Given the description of an element on the screen output the (x, y) to click on. 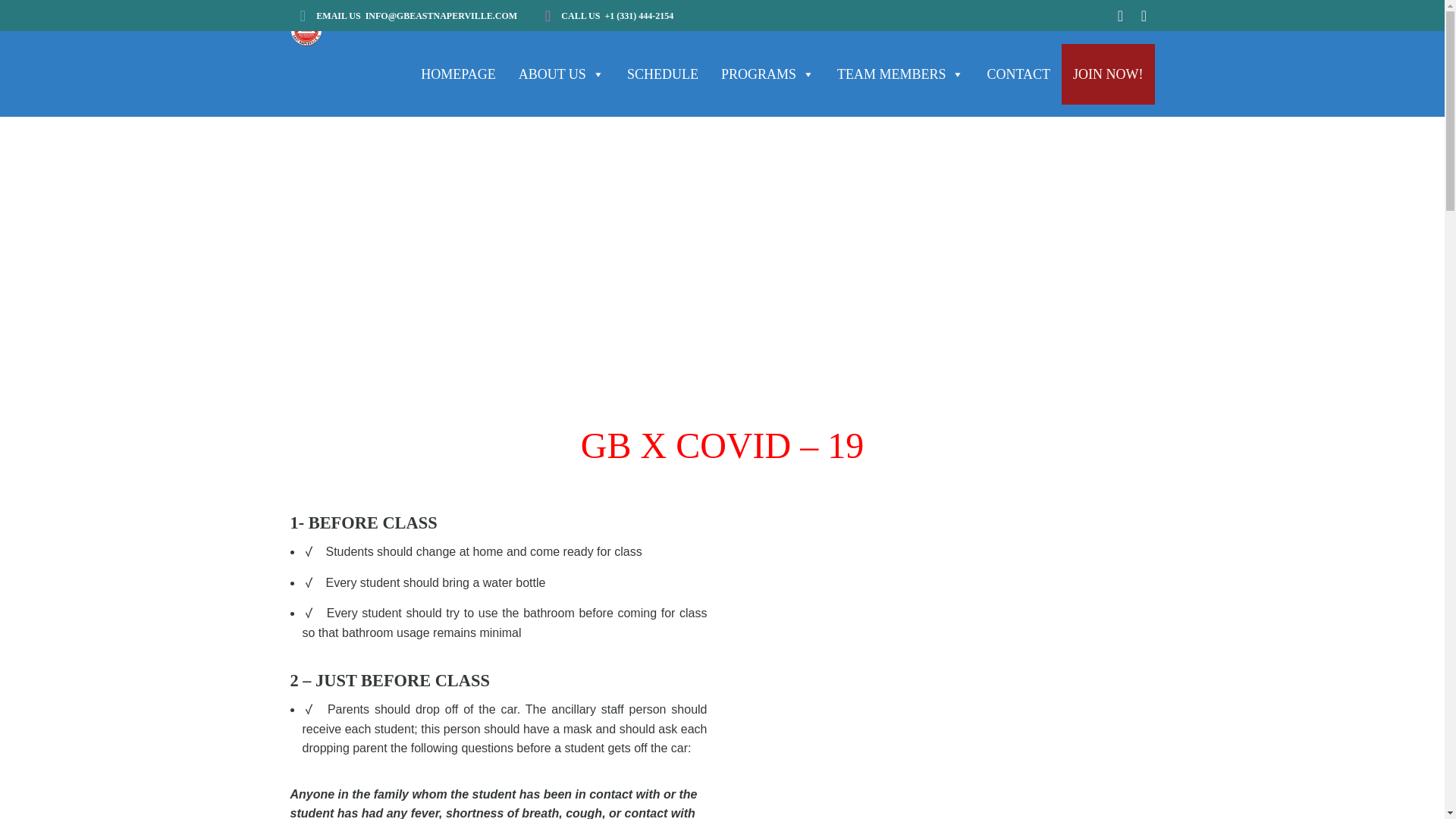
ABOUT US (560, 74)
PROGRAMS (767, 74)
TEAM MEMBERS (900, 74)
SCHEDULE (662, 74)
CONTACT (1018, 74)
JOIN NOW! (1107, 74)
HOMEPAGE (457, 74)
